Given the description of an element on the screen output the (x, y) to click on. 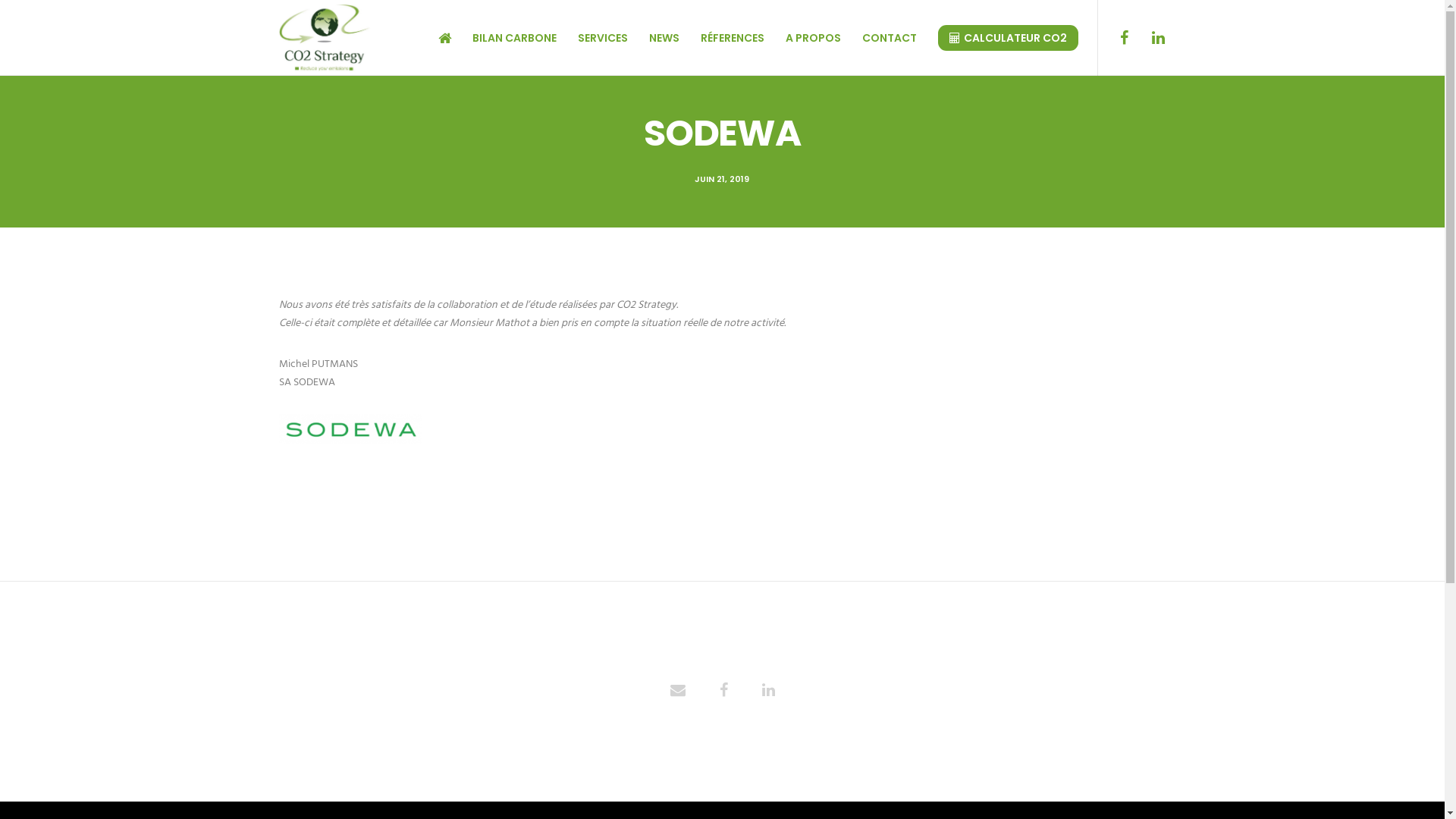
SODEWA Element type: hover (723, 691)
A PROPOS Element type: text (802, 37)
SODEWA Element type: hover (677, 691)
CONTACT Element type: text (878, 37)
CALCULATEUR CO2 Element type: text (996, 37)
NEWS Element type: text (653, 37)
BILAN CARBONE Element type: text (502, 37)
SERVICES Element type: text (591, 37)
SODEWA Element type: hover (768, 691)
info@co2strategy.be Element type: text (781, 603)
info@co2strategy.lu Element type: text (1007, 603)
